Given the description of an element on the screen output the (x, y) to click on. 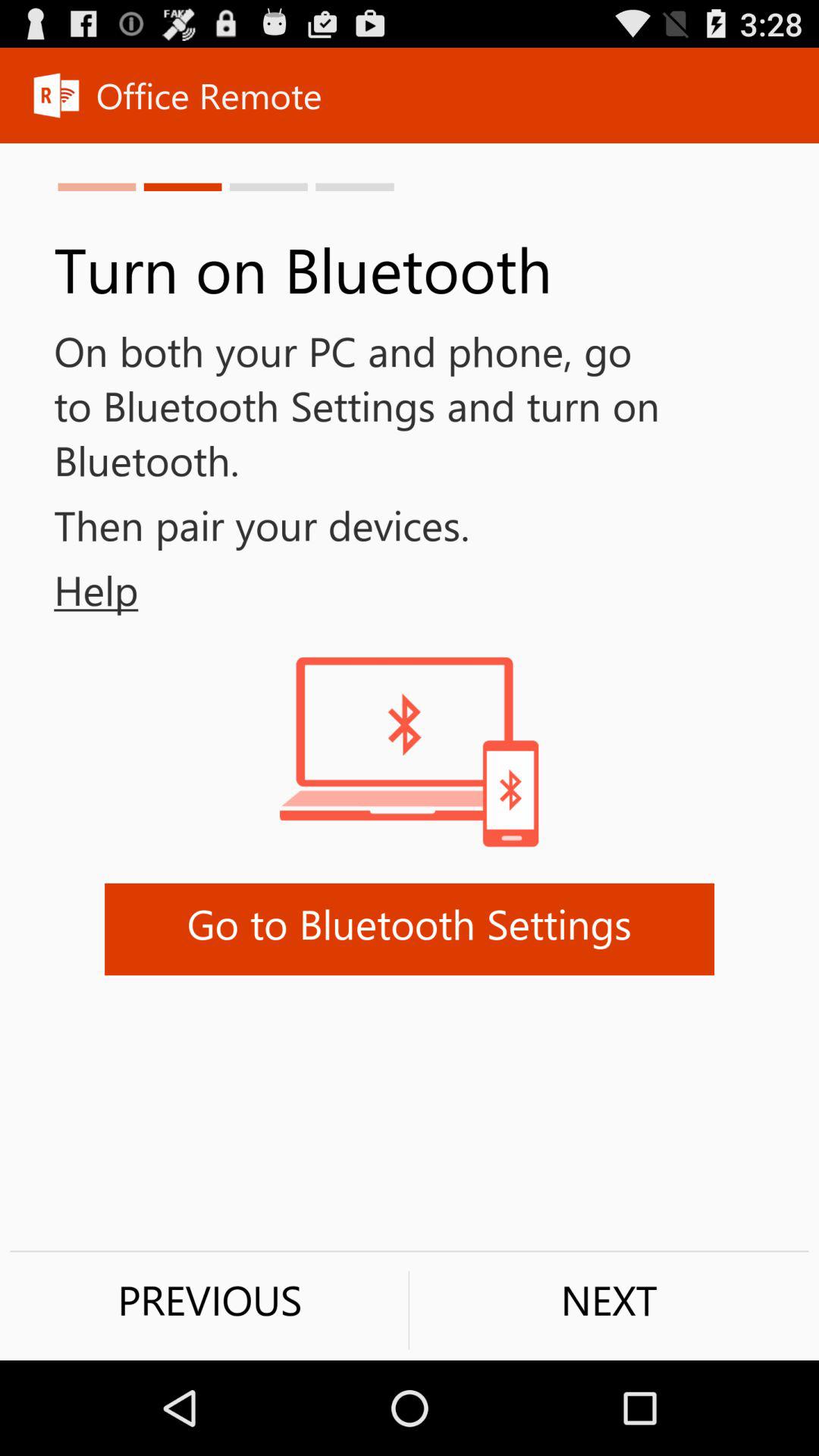
turn on the item on the left (69, 589)
